Given the description of an element on the screen output the (x, y) to click on. 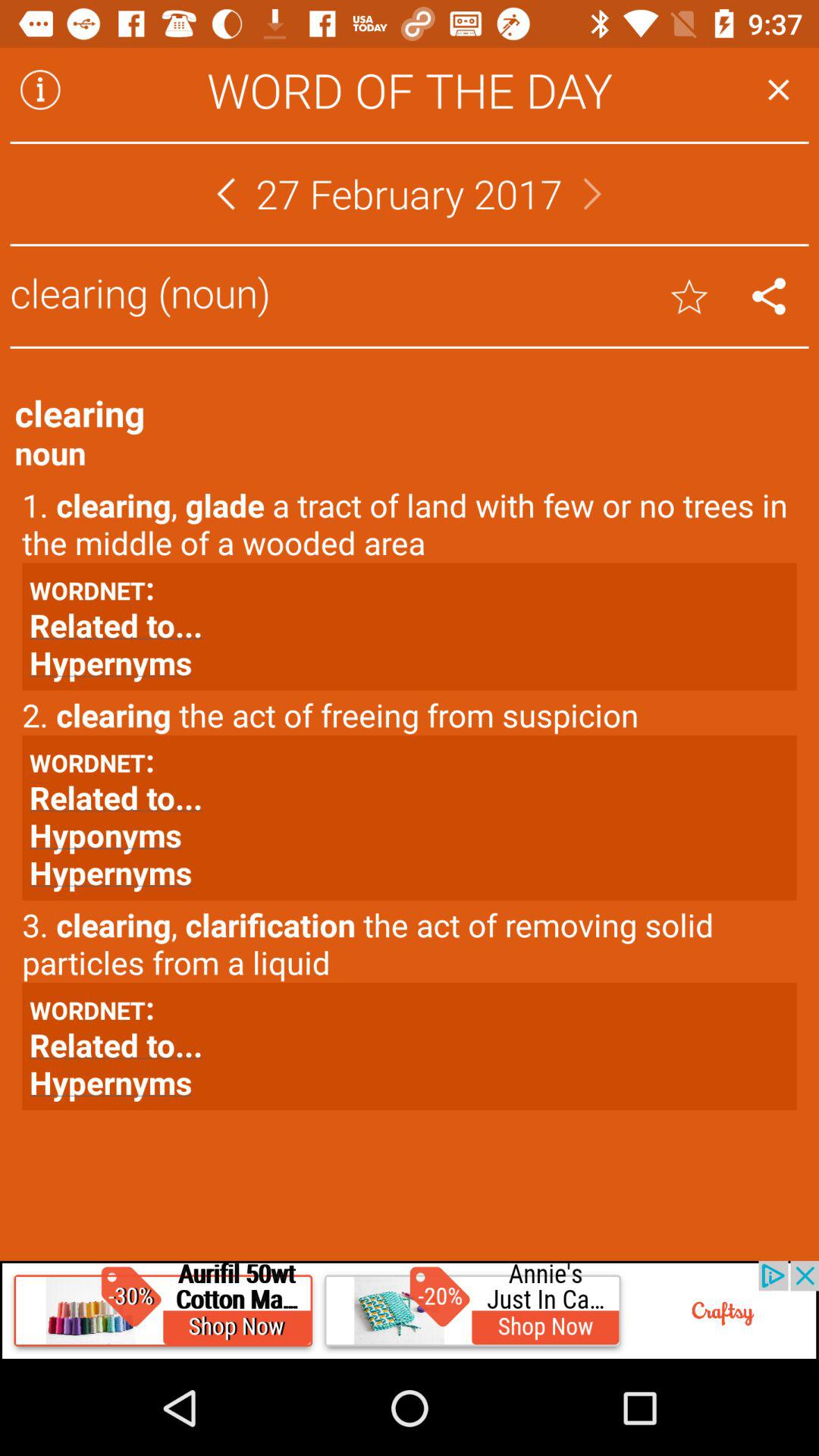
information switch option (40, 89)
